Given the description of an element on the screen output the (x, y) to click on. 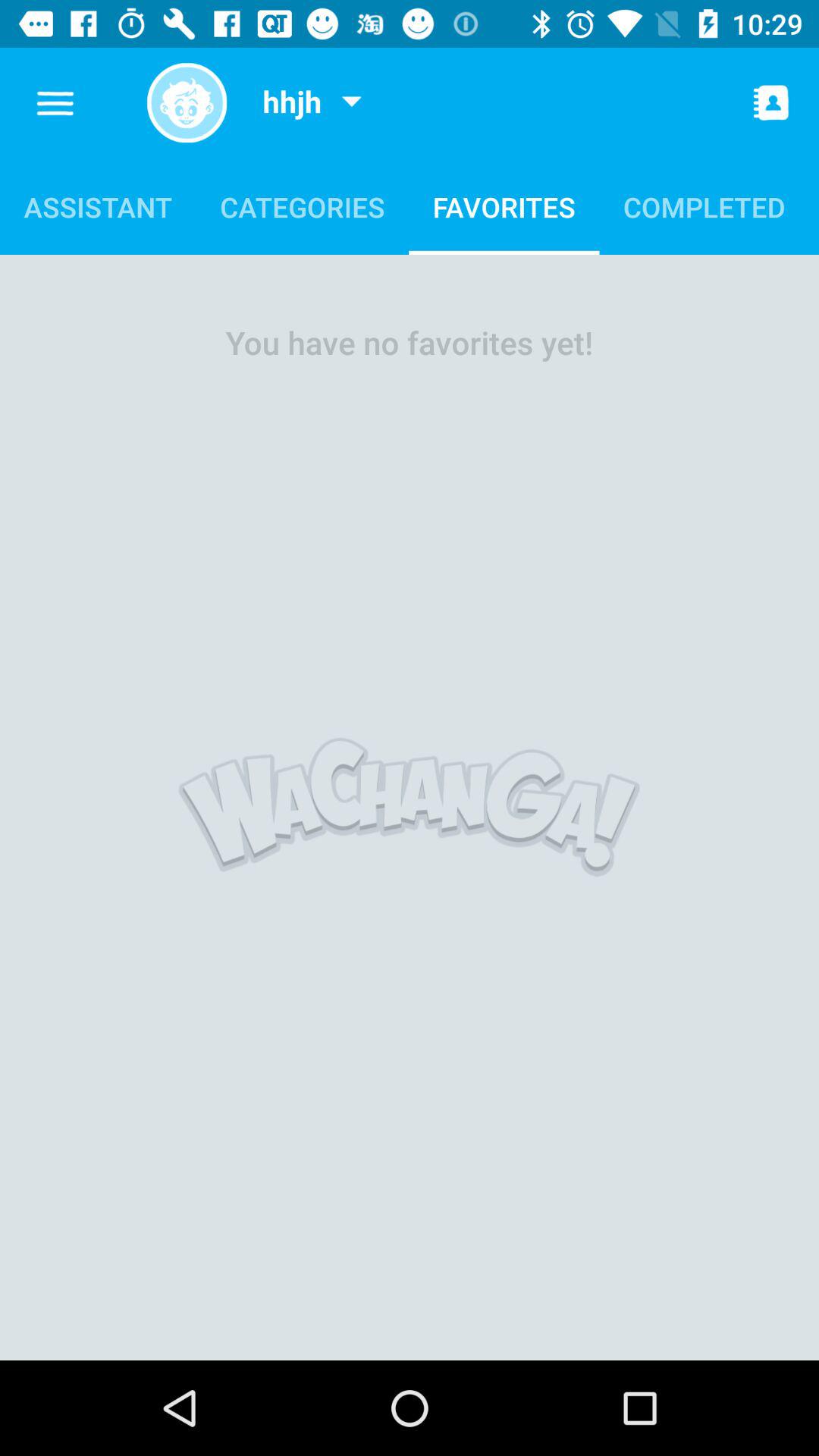
click item next to the hhjh (351, 102)
